Given the description of an element on the screen output the (x, y) to click on. 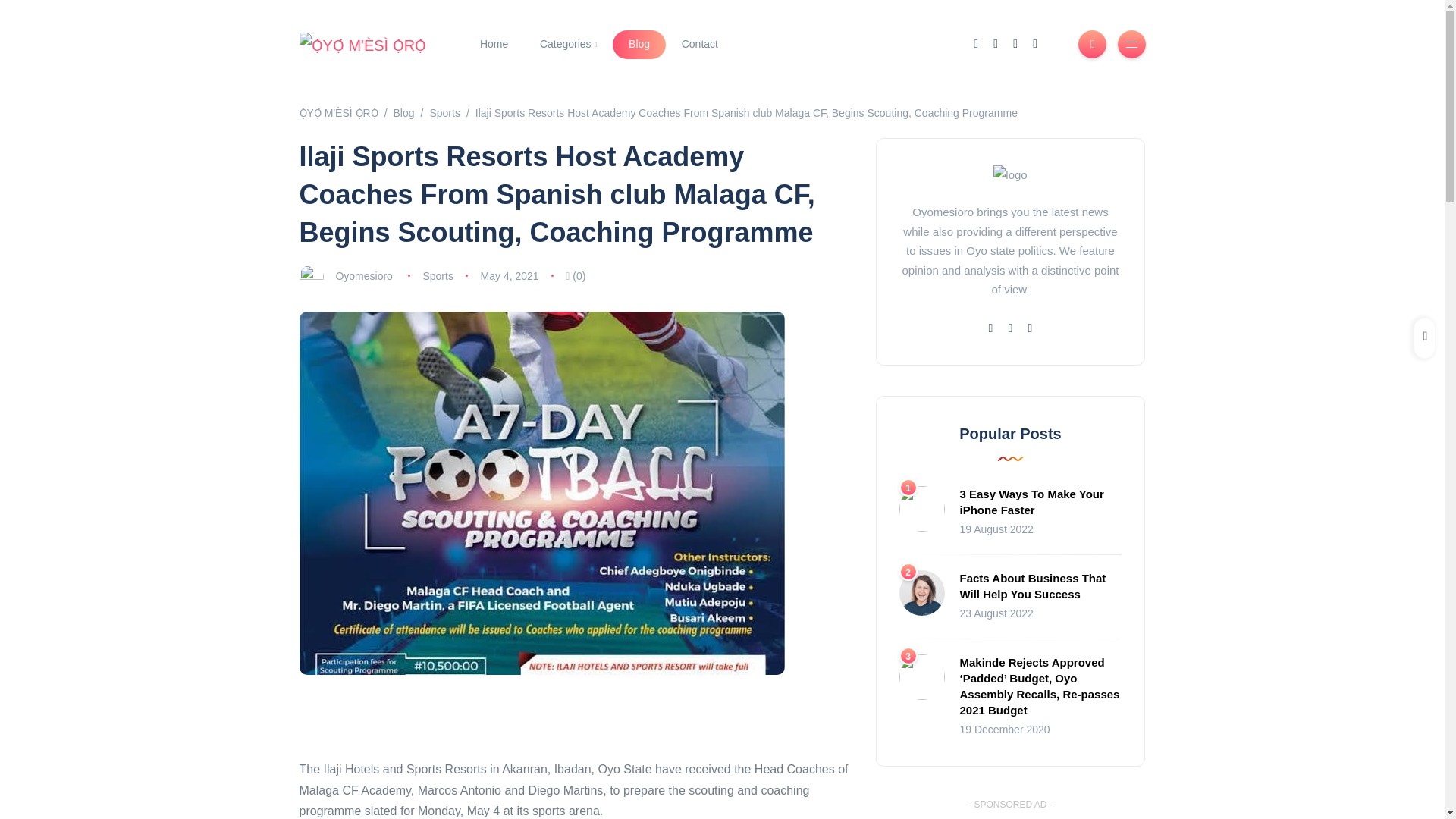
Go to Blog. (403, 112)
Home (494, 44)
Contact (699, 44)
Posts by Oyomesioro (362, 275)
Categories (568, 44)
Go to the Sports Category archives. (444, 112)
Blog (638, 44)
